Given the description of an element on the screen output the (x, y) to click on. 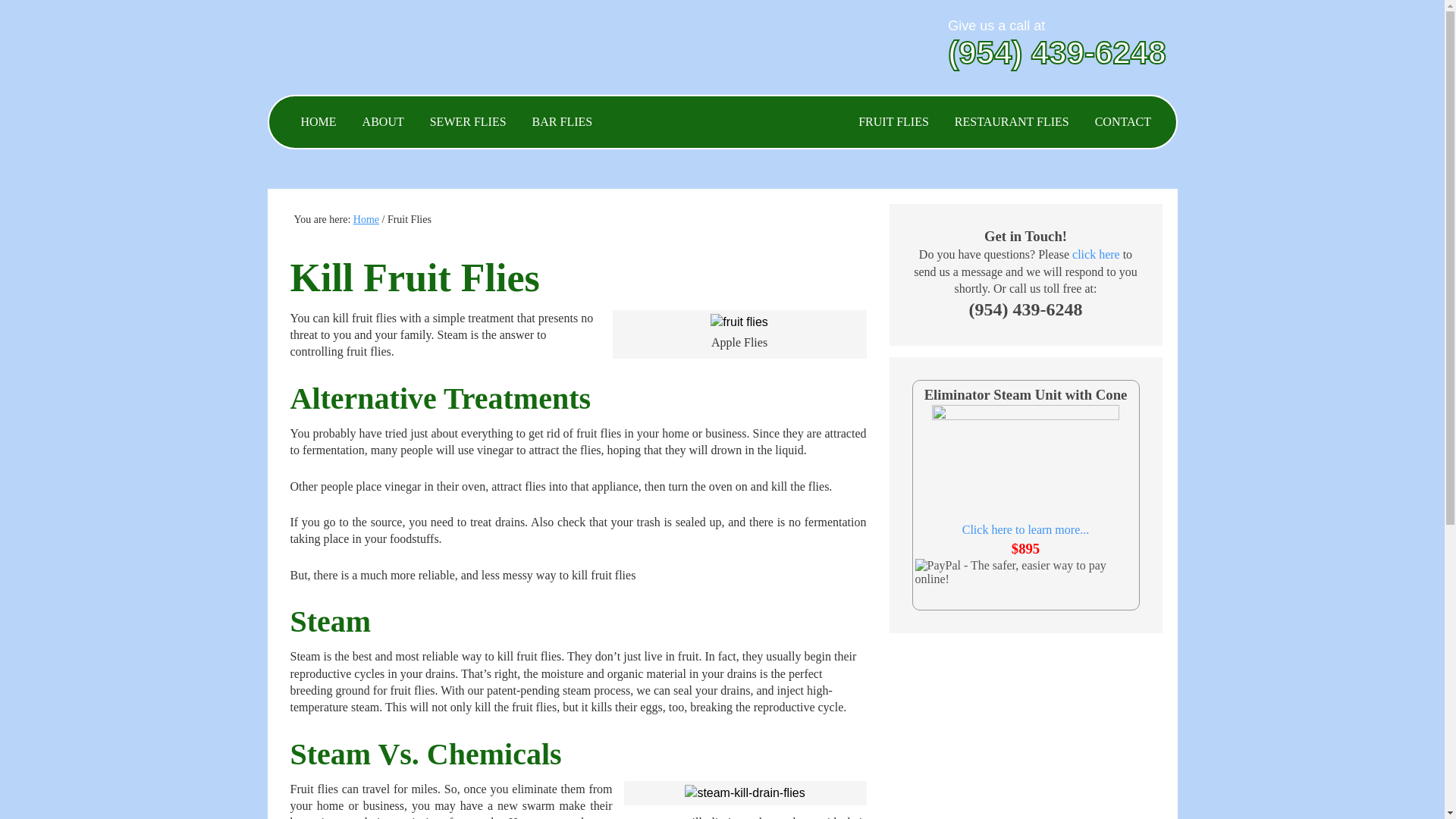
BAR FLIES (562, 121)
Click here to learn more... (1025, 529)
ABOUT (382, 121)
FRUIT FLIES (893, 121)
Fruit Flies (739, 321)
CONTACT (1122, 121)
HOME (318, 121)
Home (365, 219)
click here (1095, 254)
SEWER FLIES (467, 121)
